Given the description of an element on the screen output the (x, y) to click on. 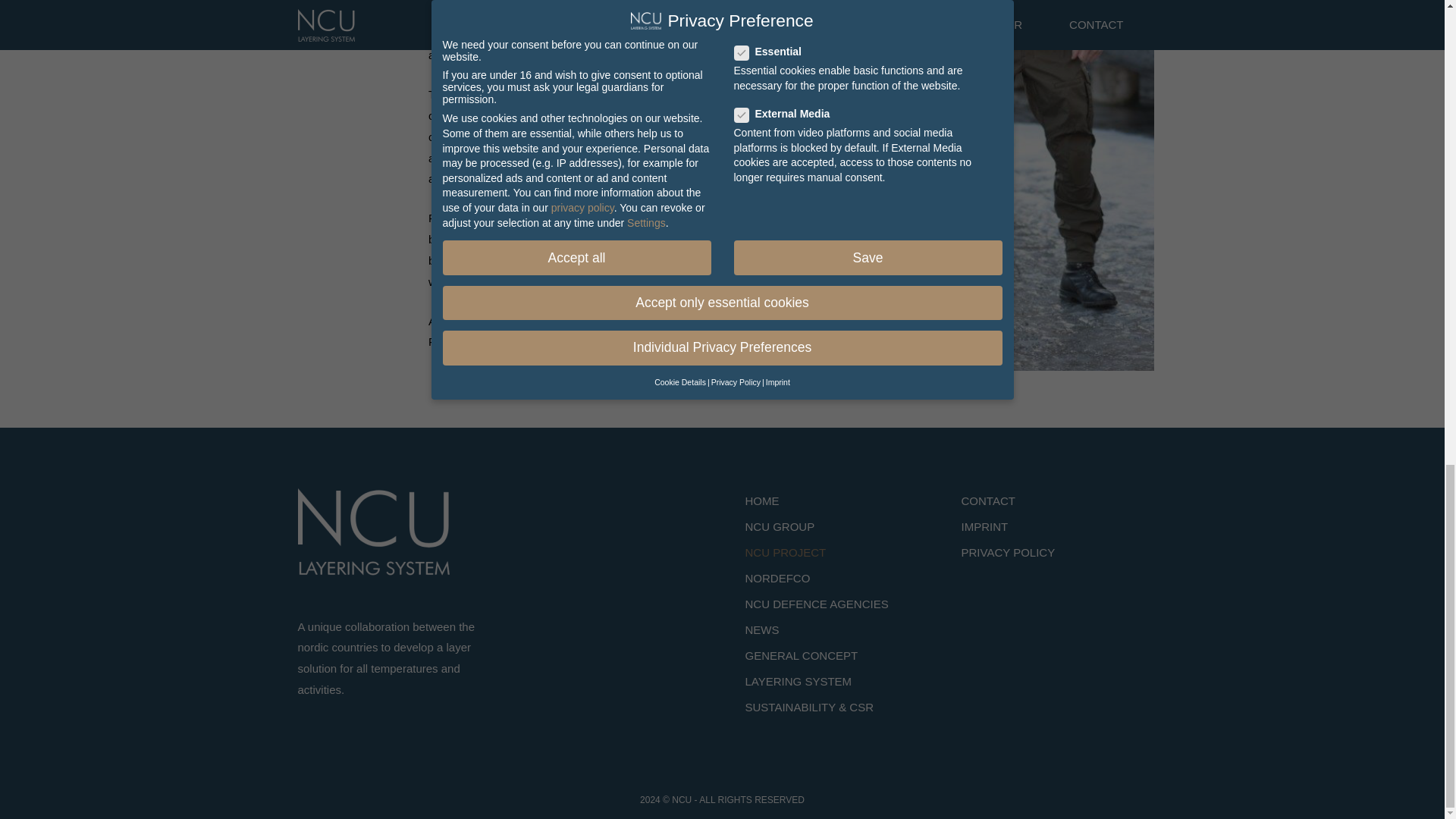
Artwork 1 (372, 531)
